Given the description of an element on the screen output the (x, y) to click on. 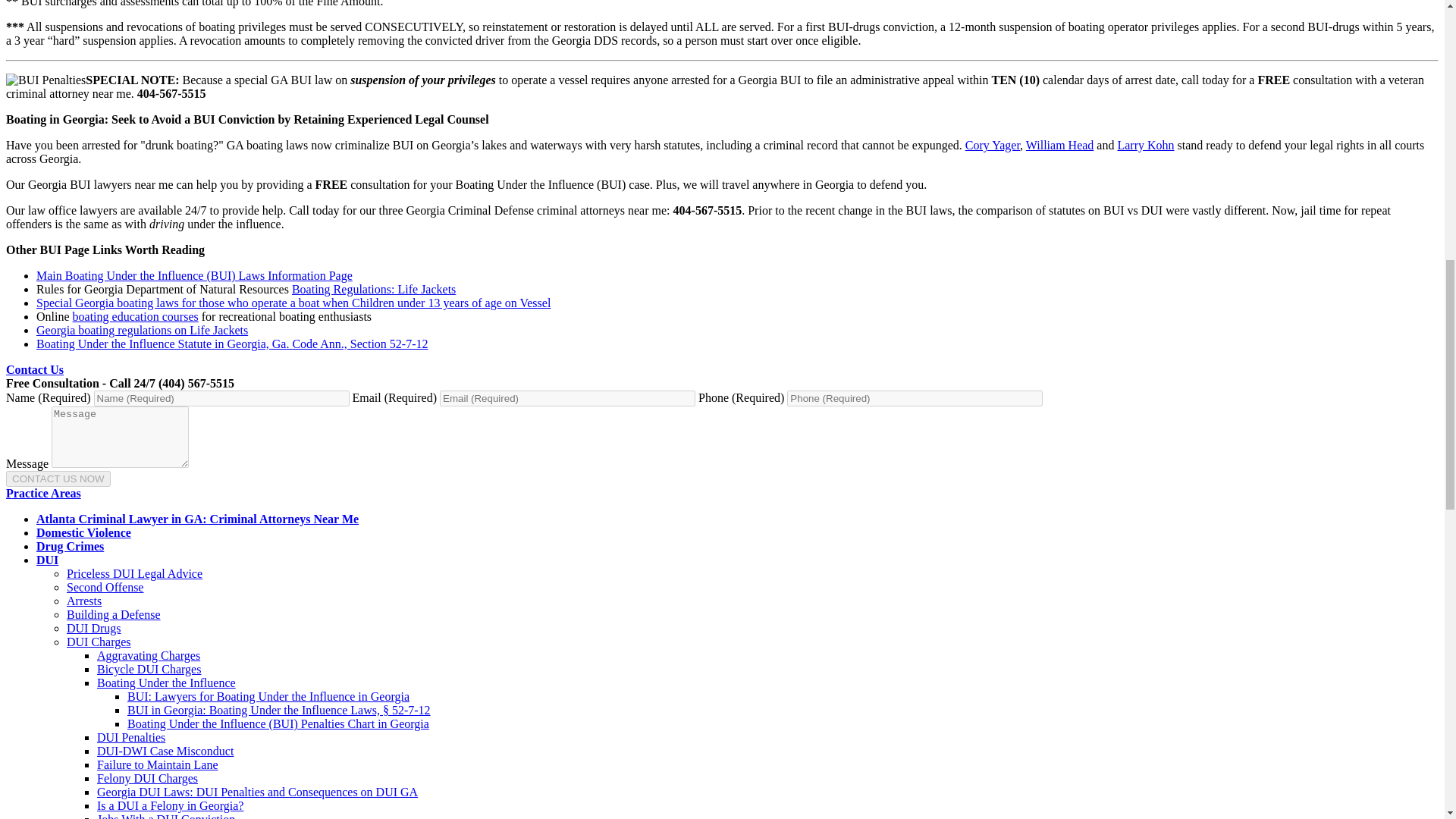
DUI (47, 559)
William Head (1060, 144)
CONTACT US NOW (57, 478)
Aggravating Charges (148, 655)
Cory Yager (992, 144)
boating education courses (135, 316)
Contact Us (34, 369)
Drug Crimes (69, 545)
Georgia boating regulations on Life Jackets (141, 329)
Second Offense (104, 586)
Building a Defense (113, 614)
Arrests (83, 600)
DUI Charges (98, 641)
